Given the description of an element on the screen output the (x, y) to click on. 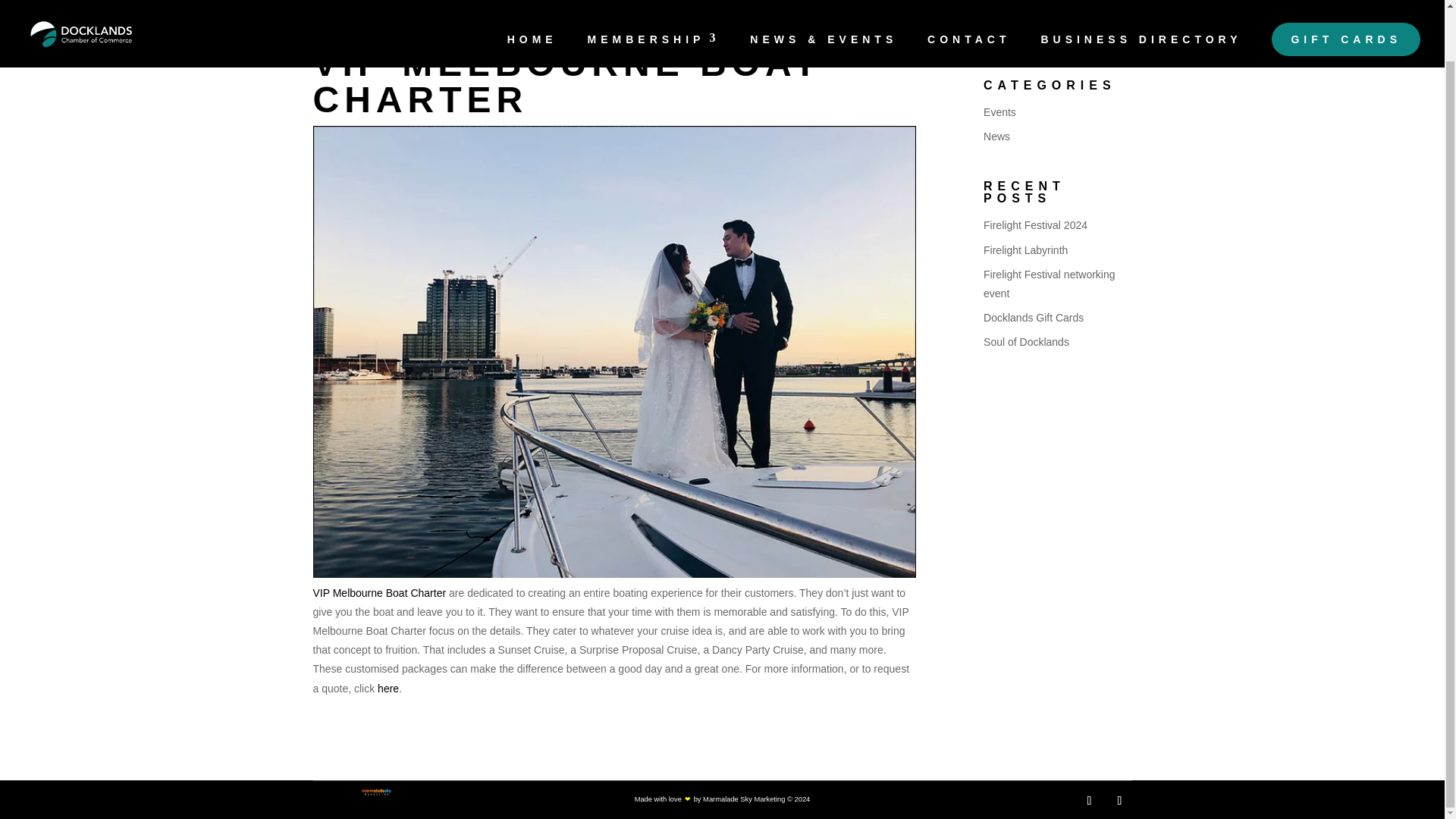
BUSINESS DIRECTORY (1141, 6)
Firelight Festival 2024 (1035, 224)
News (997, 136)
here (387, 688)
Events (1000, 111)
Firelight Labyrinth (1025, 250)
Follow on Instagram (1118, 800)
CONTACT (968, 6)
MSM-Logo (376, 791)
Marmalade Sky Marketing (743, 799)
HOME (531, 6)
VIP Melbourne Boat Charter (379, 592)
Firelight Festival networking event (1049, 283)
Follow on Facebook (1088, 800)
